Given the description of an element on the screen output the (x, y) to click on. 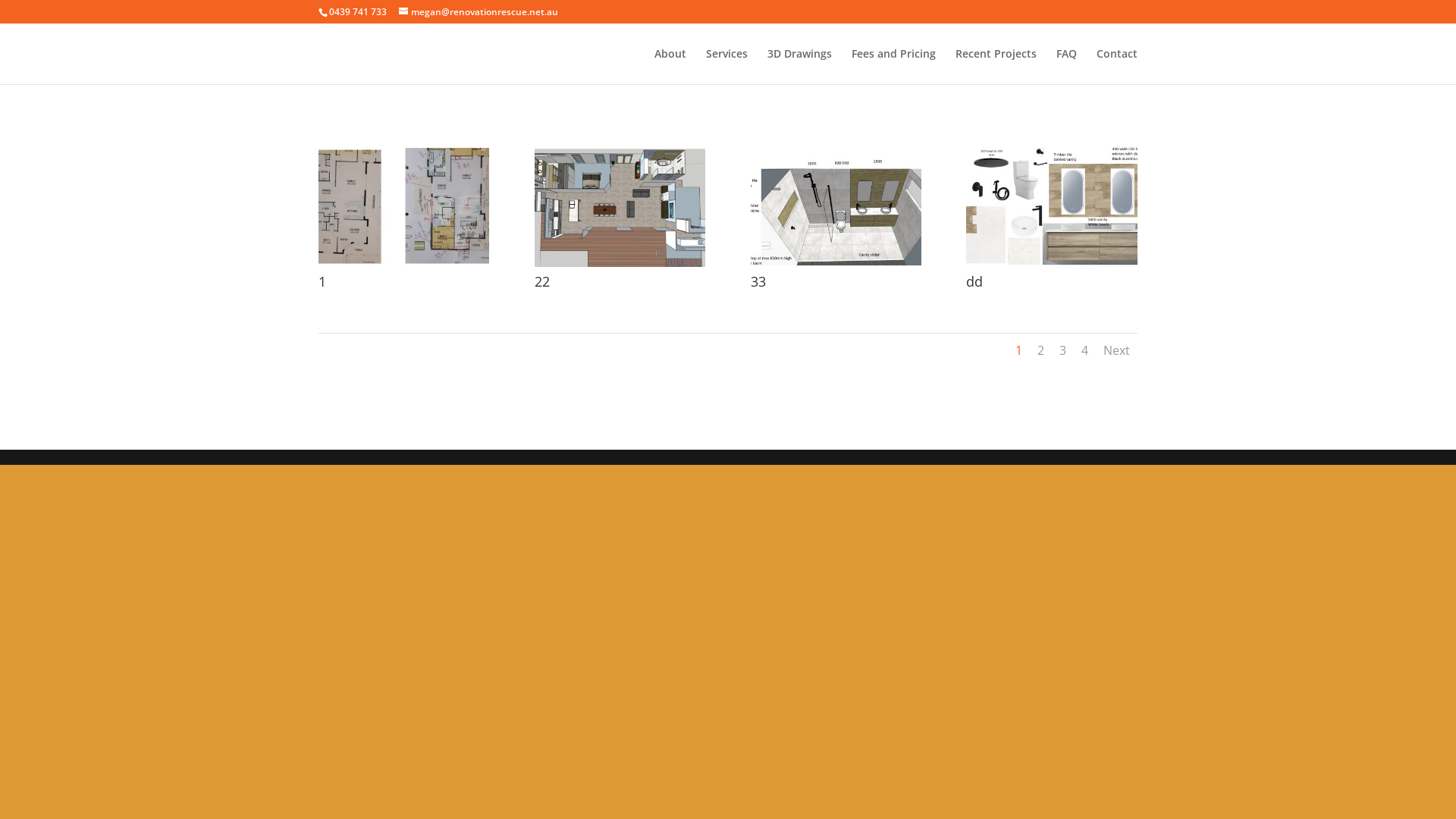
FAQ Element type: text (1066, 66)
4 Element type: text (1084, 350)
dd Element type: hover (1051, 266)
1 Element type: text (1018, 350)
Next Element type: text (1116, 350)
2 Element type: text (1040, 350)
3D Drawings Element type: text (799, 66)
22 Element type: hover (619, 266)
megan@renovationrescue.net.au Element type: text (478, 11)
About Element type: text (670, 66)
3 Element type: text (1062, 350)
Contact Element type: text (1116, 66)
1 Element type: hover (403, 266)
Recent Projects Element type: text (995, 66)
Fees and Pricing Element type: text (893, 66)
33 Element type: hover (835, 266)
Services Element type: text (726, 66)
